Given the description of an element on the screen output the (x, y) to click on. 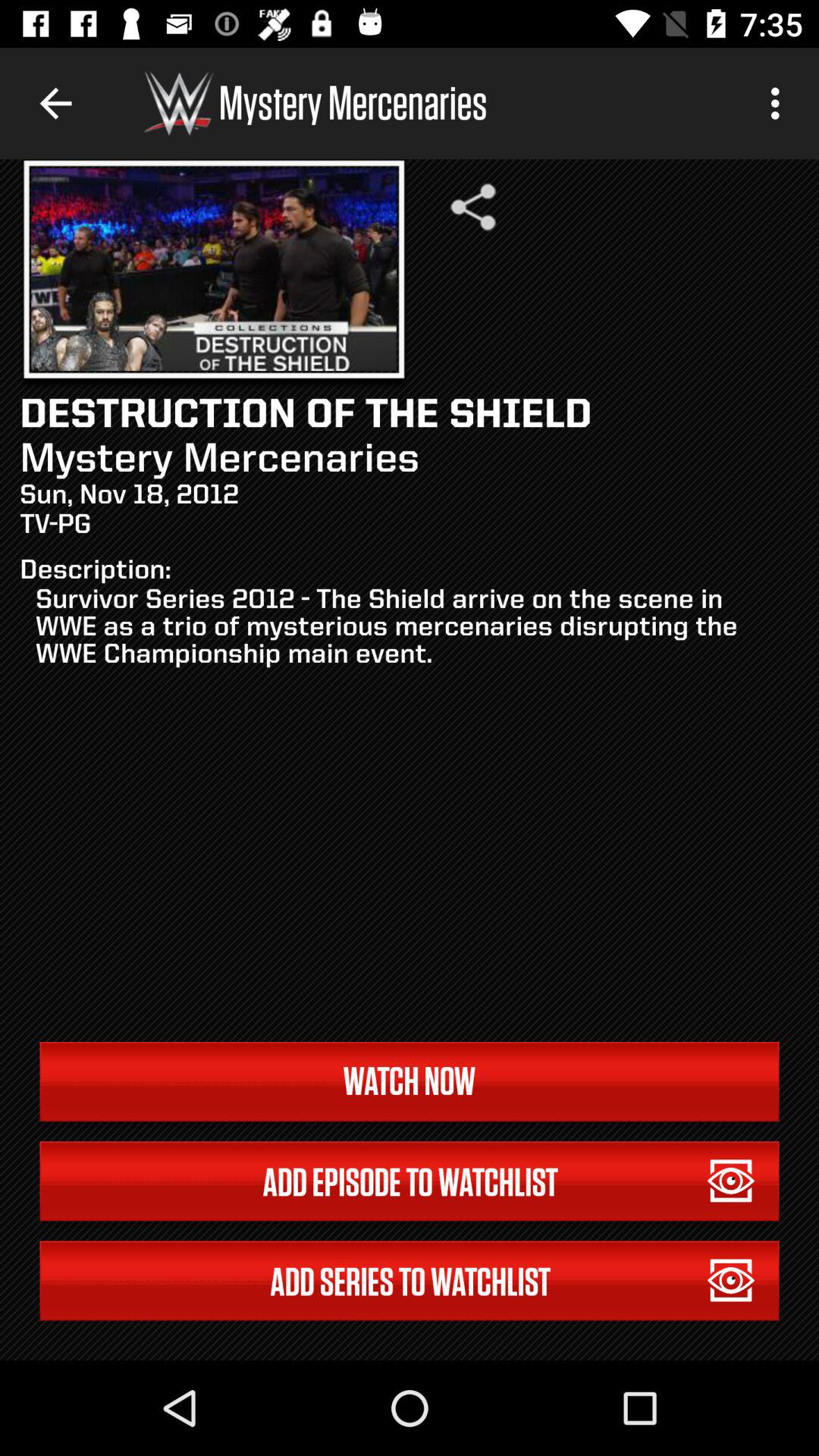
video sharing button (472, 206)
